Given the description of an element on the screen output the (x, y) to click on. 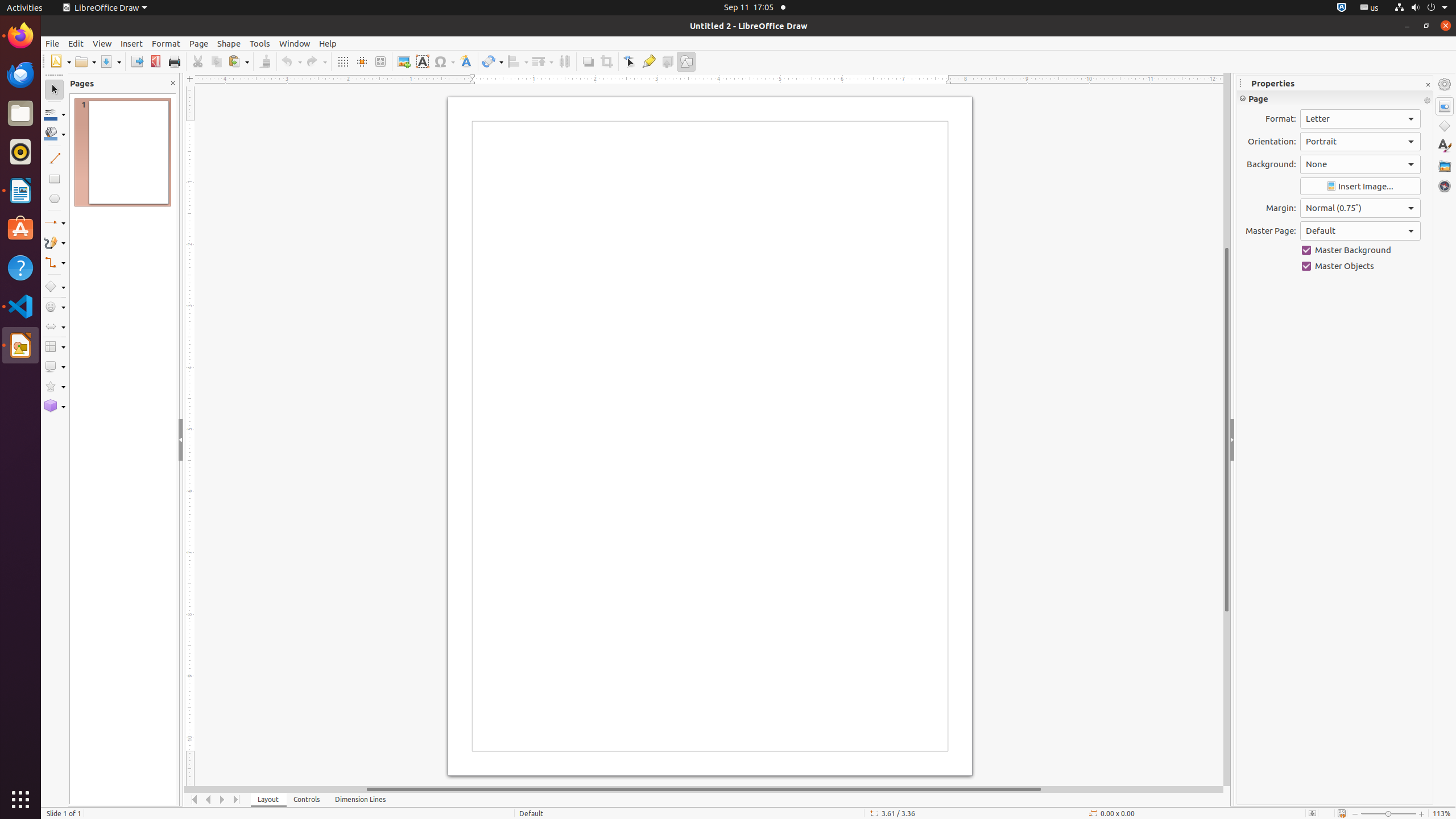
:1.21/StatusNotifierItem Element type: menu (1369, 7)
Zoom & Pan Element type: push-button (379, 61)
Ellipse Element type: push-button (53, 198)
Help Element type: push-button (20, 267)
Tools Element type: menu (259, 43)
